Given the description of an element on the screen output the (x, y) to click on. 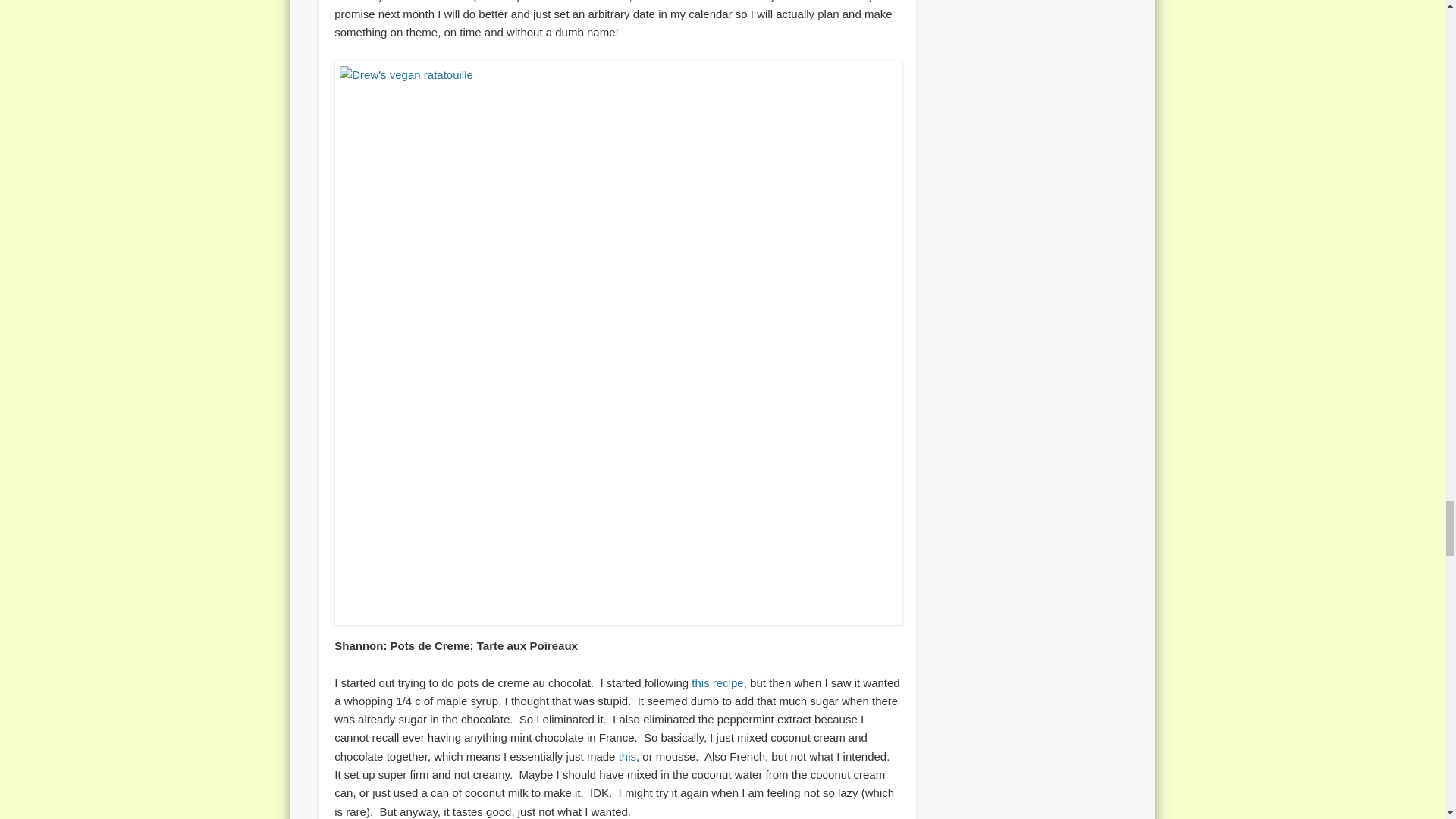
this (627, 756)
this recipe (716, 682)
